Given the description of an element on the screen output the (x, y) to click on. 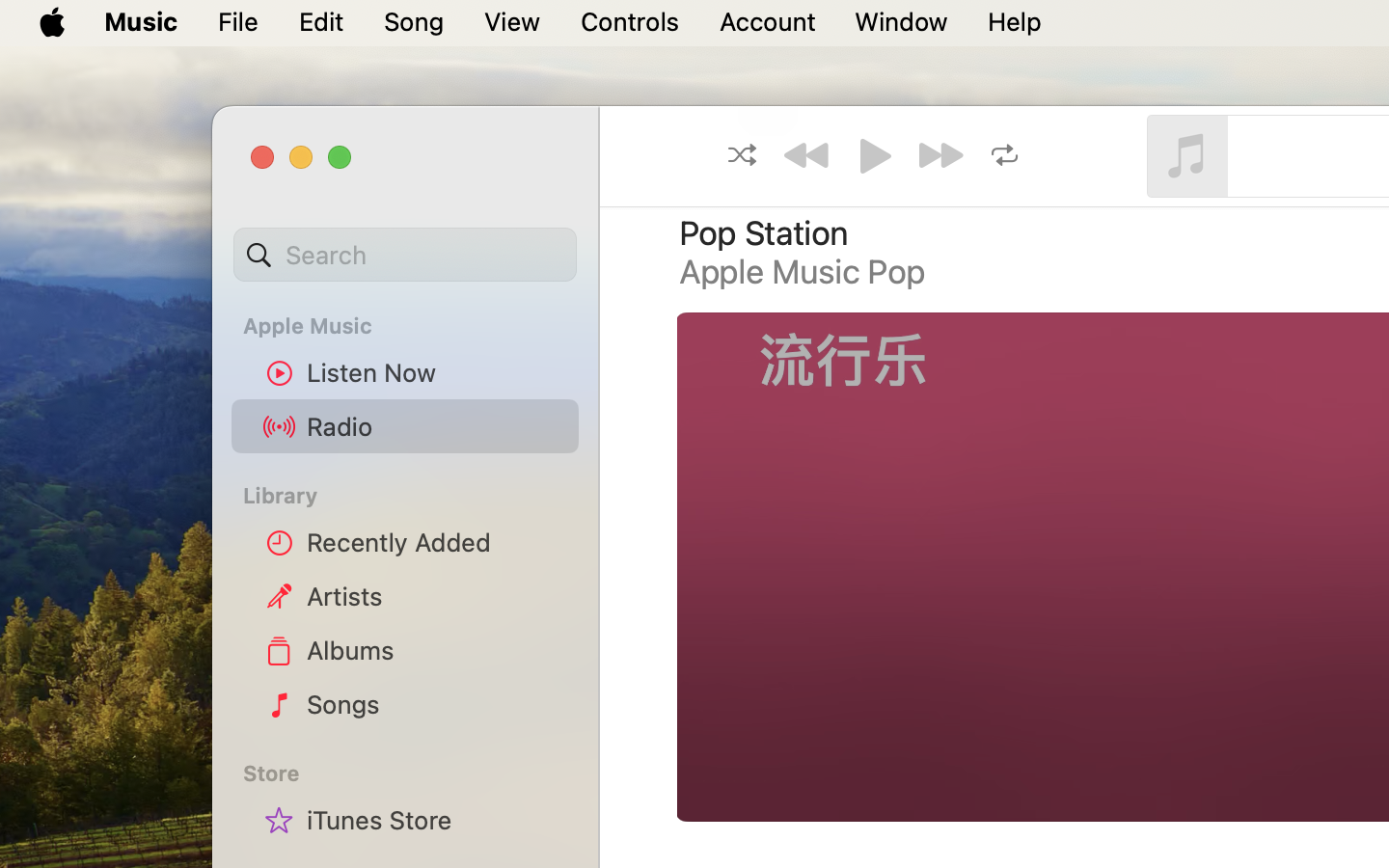
Apple Music Element type: AXStaticText (416, 325)
Listen Now Element type: AXStaticText (434, 371)
iTunes Store Element type: AXStaticText (434, 819)
Songs Element type: AXStaticText (434, 703)
Library Element type: AXStaticText (404, 495)
